Given the description of an element on the screen output the (x, y) to click on. 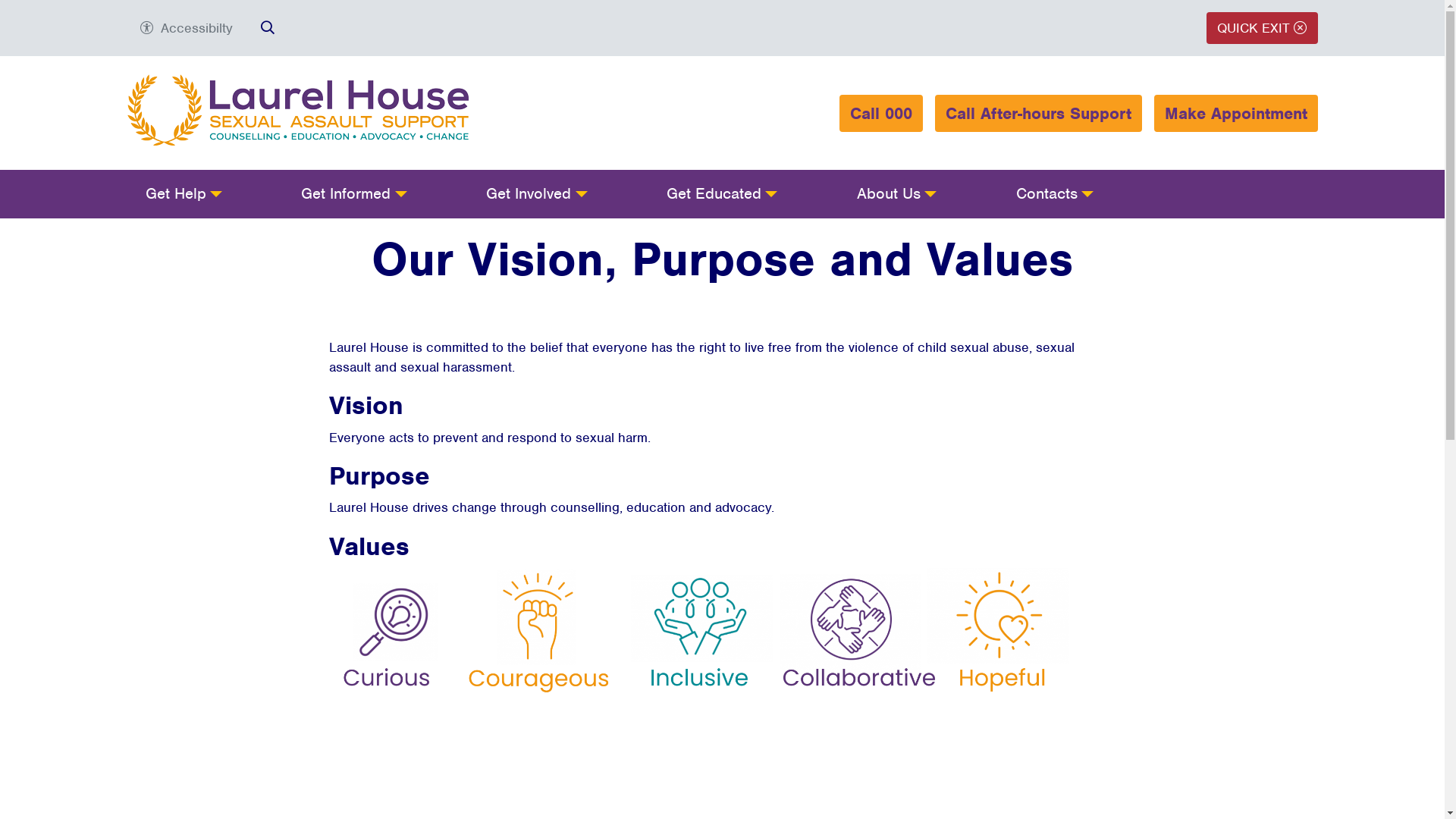
QUICK EXIT Element type: text (1261, 27)
Call 000 Element type: text (880, 112)
Get Educated Element type: text (721, 193)
Get Informed Element type: text (353, 193)
About Us Element type: text (896, 193)
Get Help Element type: text (183, 193)
Accessibilty Element type: text (185, 27)
Get Involved Element type: text (536, 193)
Contacts Element type: text (1054, 193)
Call After-hours Support Element type: text (1037, 112)
Make Appointment Element type: text (1235, 112)
